Given the description of an element on the screen output the (x, y) to click on. 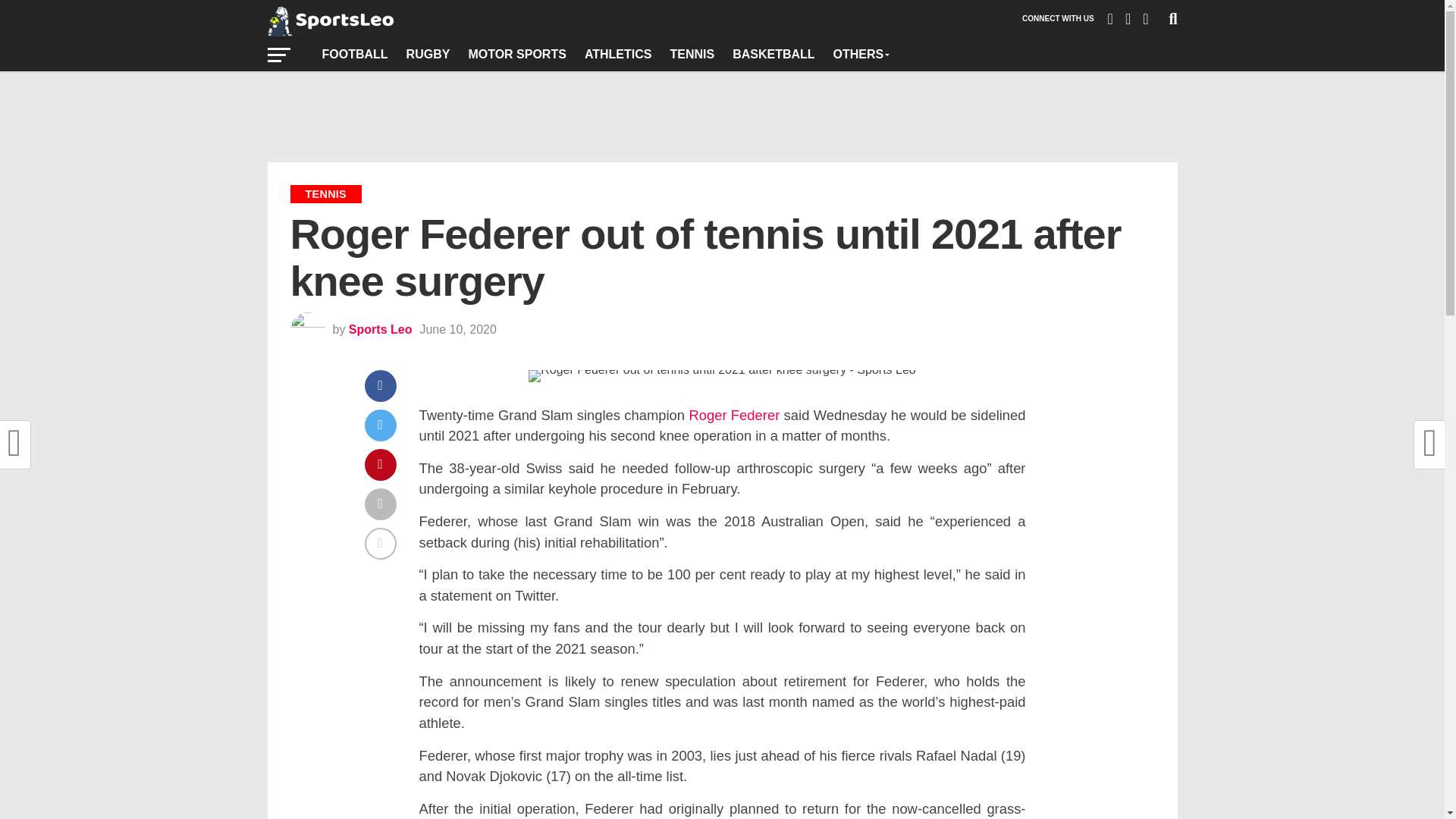
OTHERS (861, 54)
Posts by Sports Leo (380, 328)
ATHLETICS (618, 54)
TENNIS (692, 54)
BASKETBALL (773, 54)
Sports Leo (380, 328)
RUGBY (428, 54)
FOOTBALL (354, 54)
MOTOR SPORTS (516, 54)
